Given the description of an element on the screen output the (x, y) to click on. 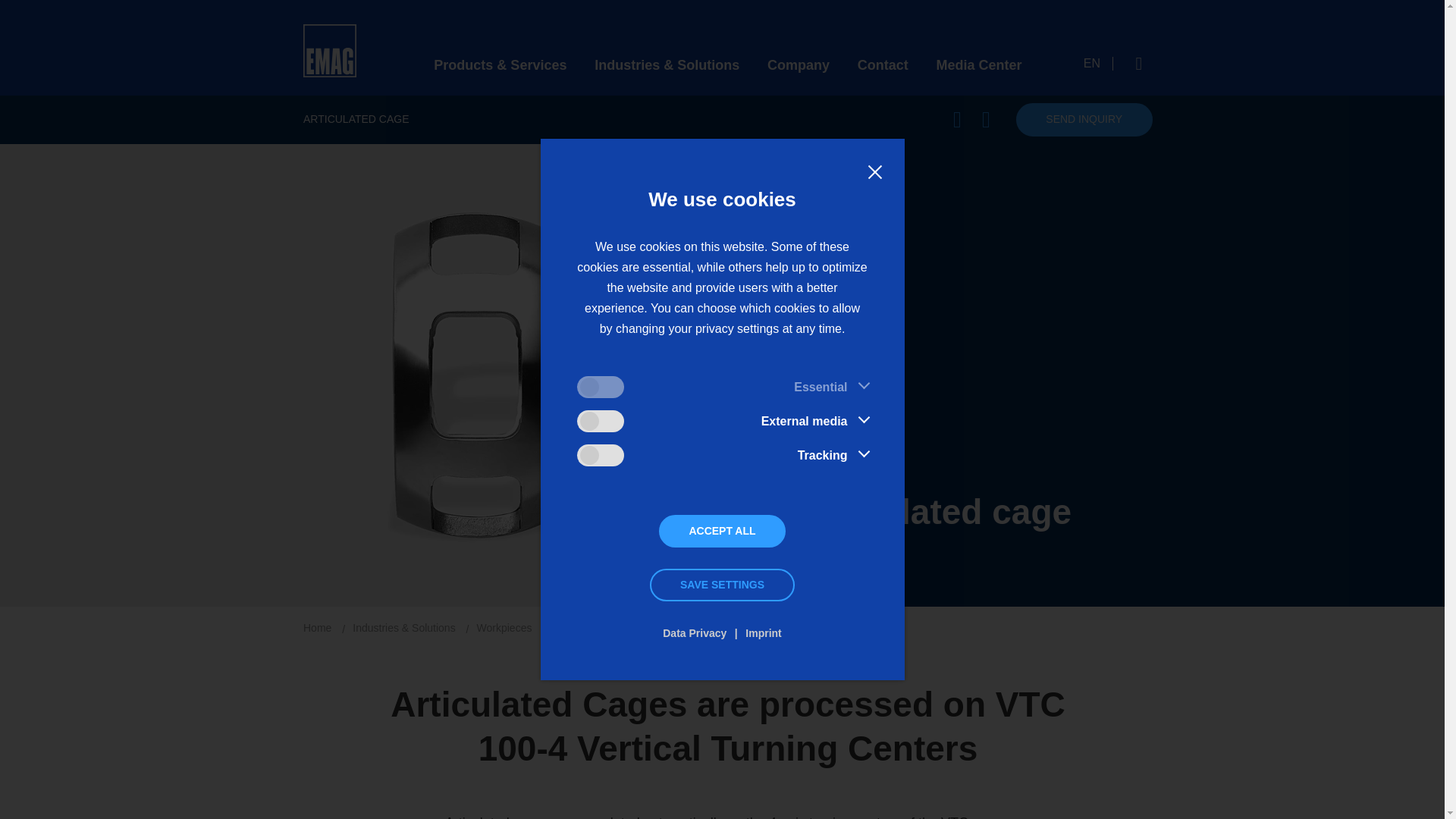
ARTICULATED CAGE (355, 119)
SEND INQUIRY (1084, 119)
Open search (1139, 62)
EN (1098, 63)
Company (798, 65)
Media Center (979, 65)
Bookmark this page (986, 119)
Share this page (957, 119)
Contact (882, 65)
